Given the description of an element on the screen output the (x, y) to click on. 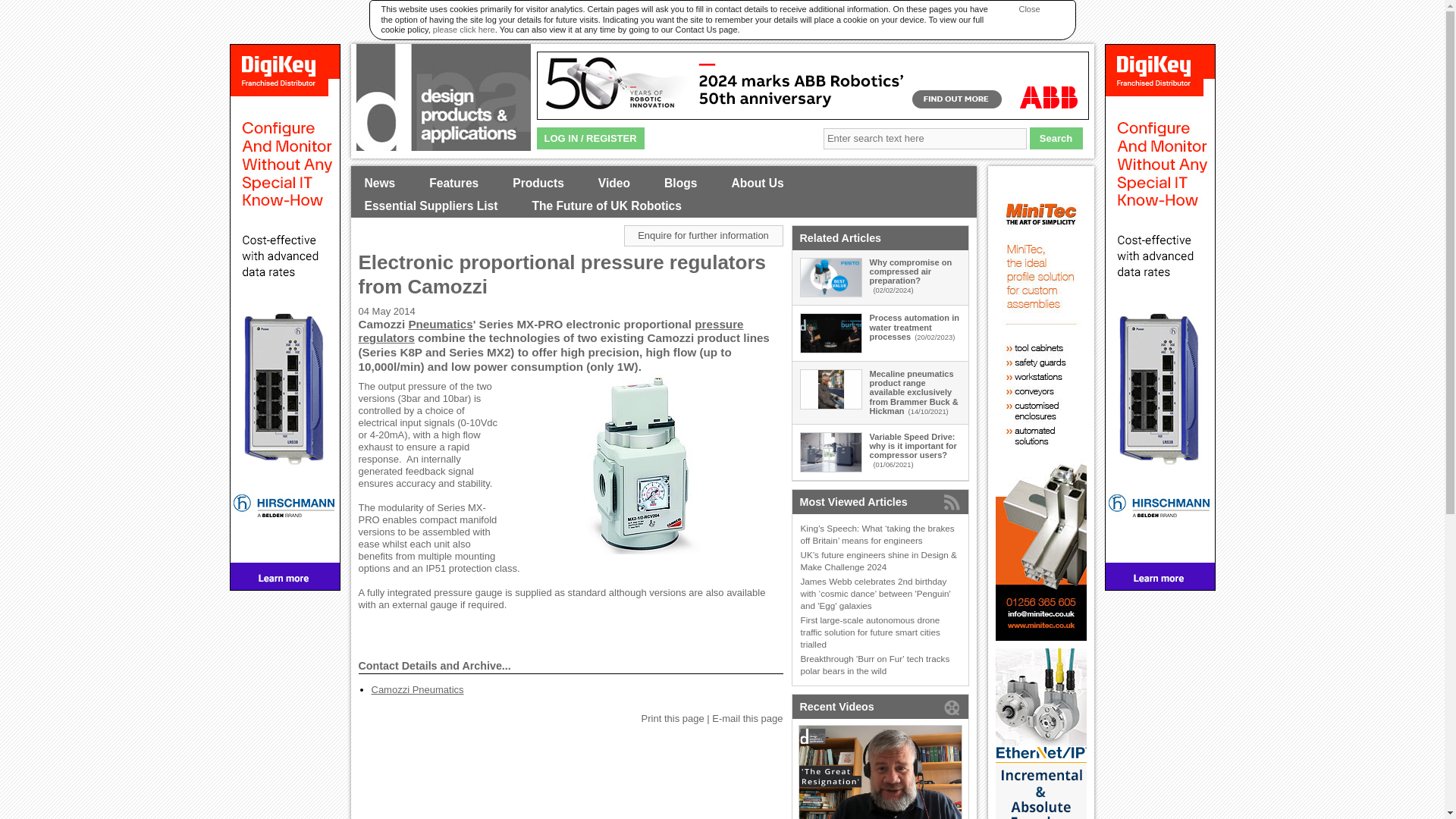
Features (454, 183)
Products (538, 183)
please click here (463, 29)
News (379, 183)
